Given the description of an element on the screen output the (x, y) to click on. 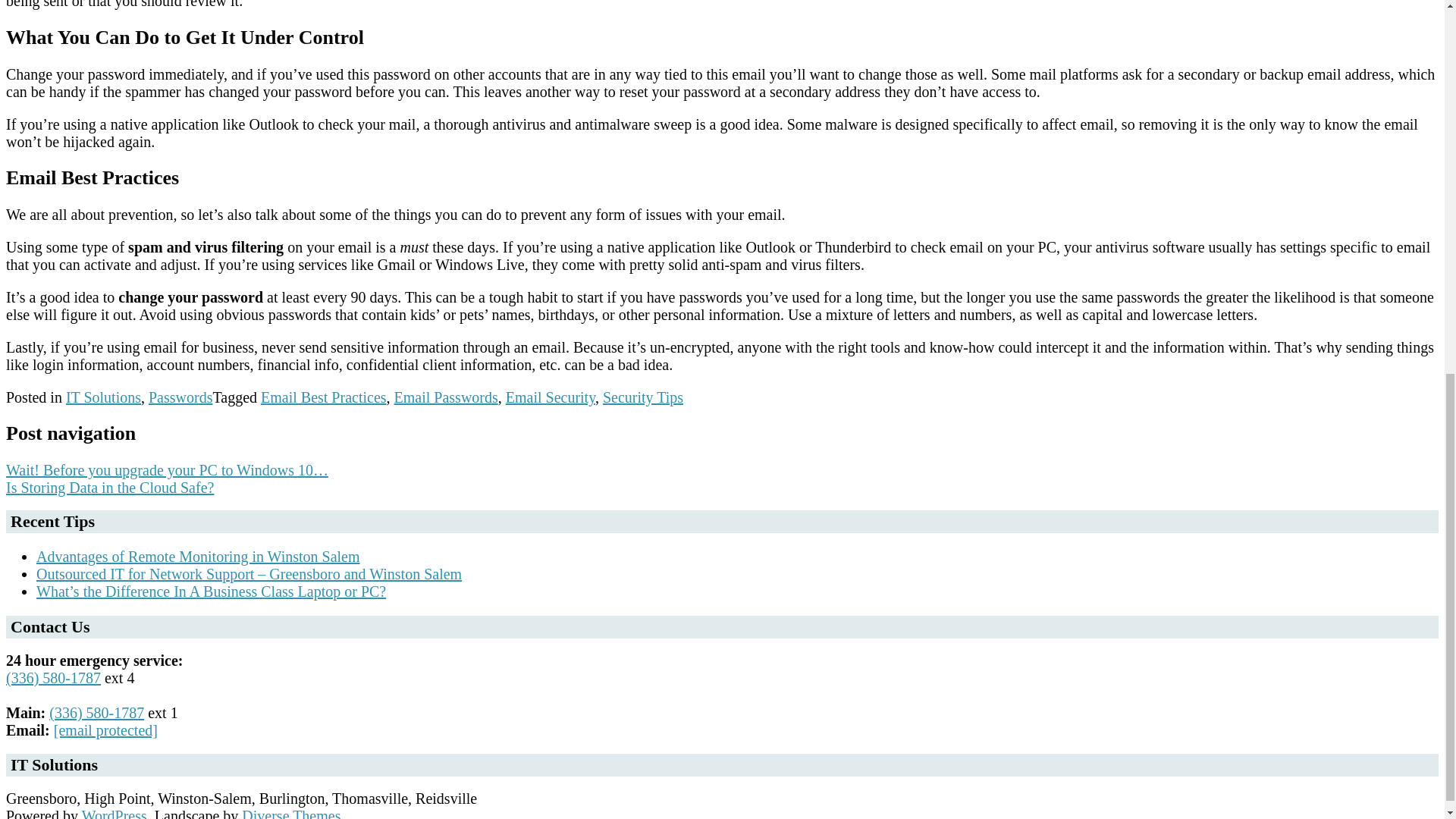
Email Passwords (445, 397)
Advantages of Remote Monitoring in Winston Salem (197, 556)
Passwords (180, 397)
Security Tips (642, 397)
IT Solutions (103, 397)
Email Best Practices (323, 397)
Is Storing Data in the Cloud Safe? (109, 487)
Email Security (550, 397)
